Given the description of an element on the screen output the (x, y) to click on. 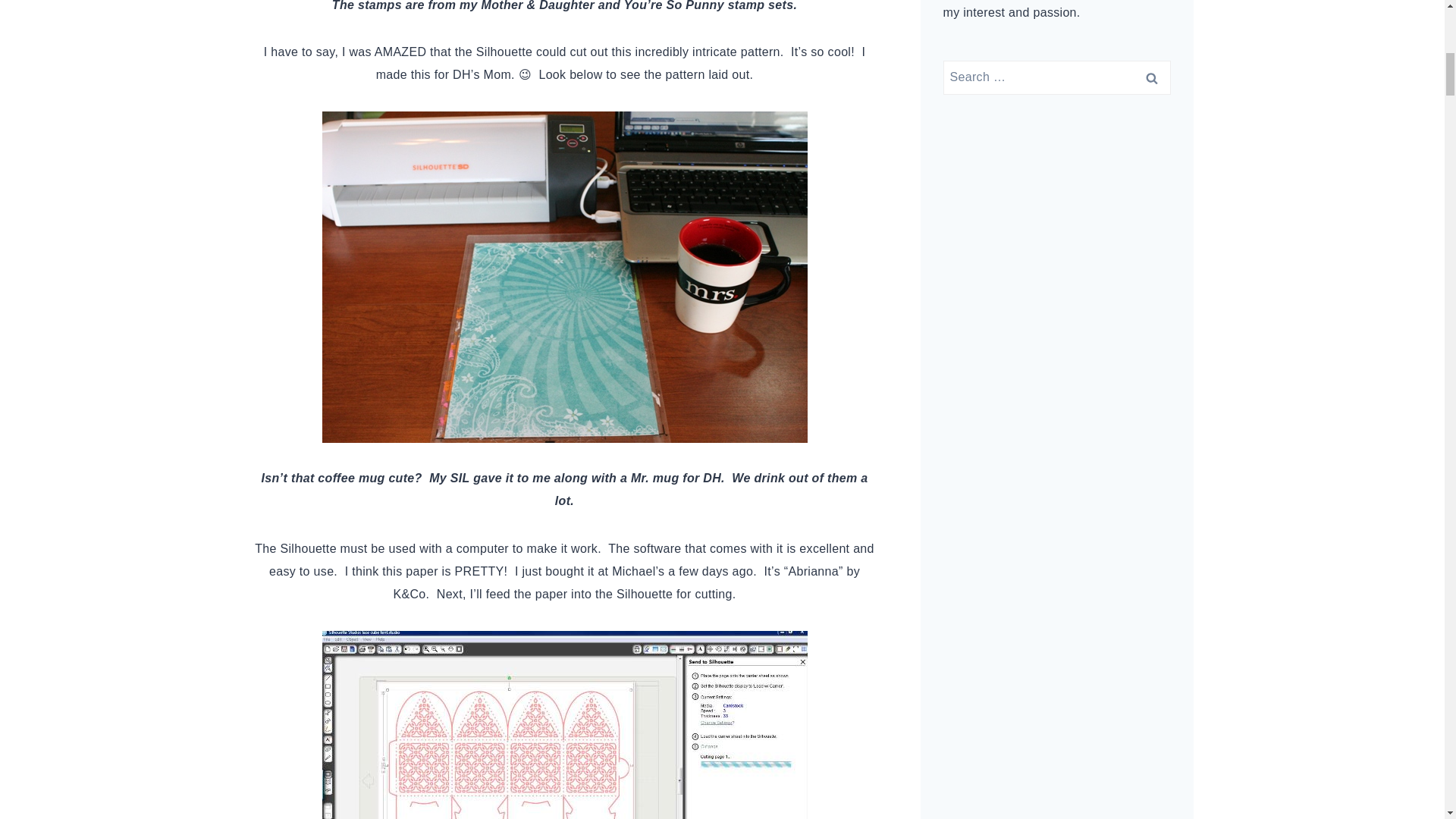
I really LOVE the Silhouette! (563, 724)
Search (1151, 77)
Search (1151, 77)
